Given the description of an element on the screen output the (x, y) to click on. 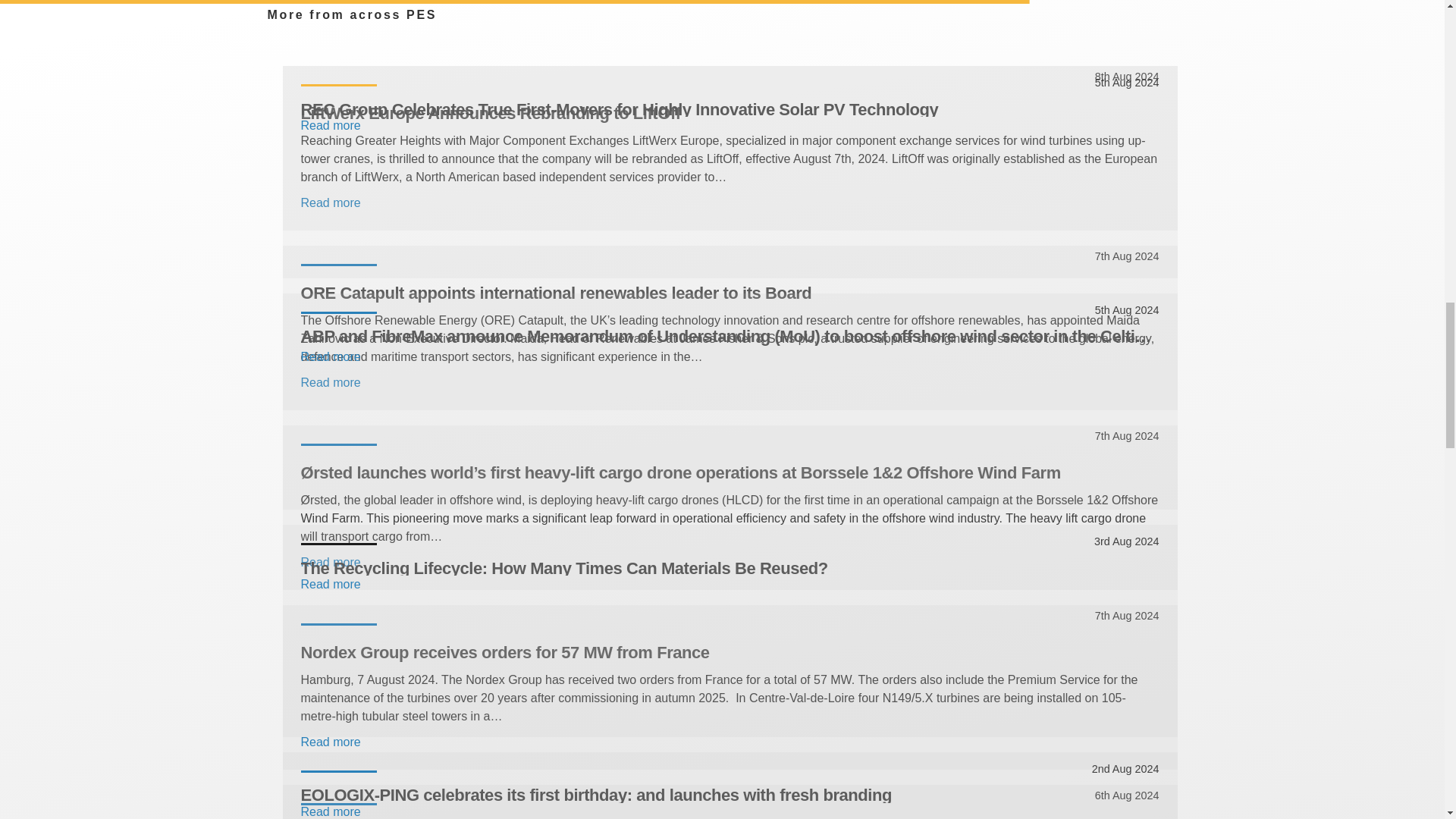
LiftWerx Europe Announces Rebranding to LiftOff (728, 112)
Nordex Group receives orders for 57 MW from France (728, 651)
